Given the description of an element on the screen output the (x, y) to click on. 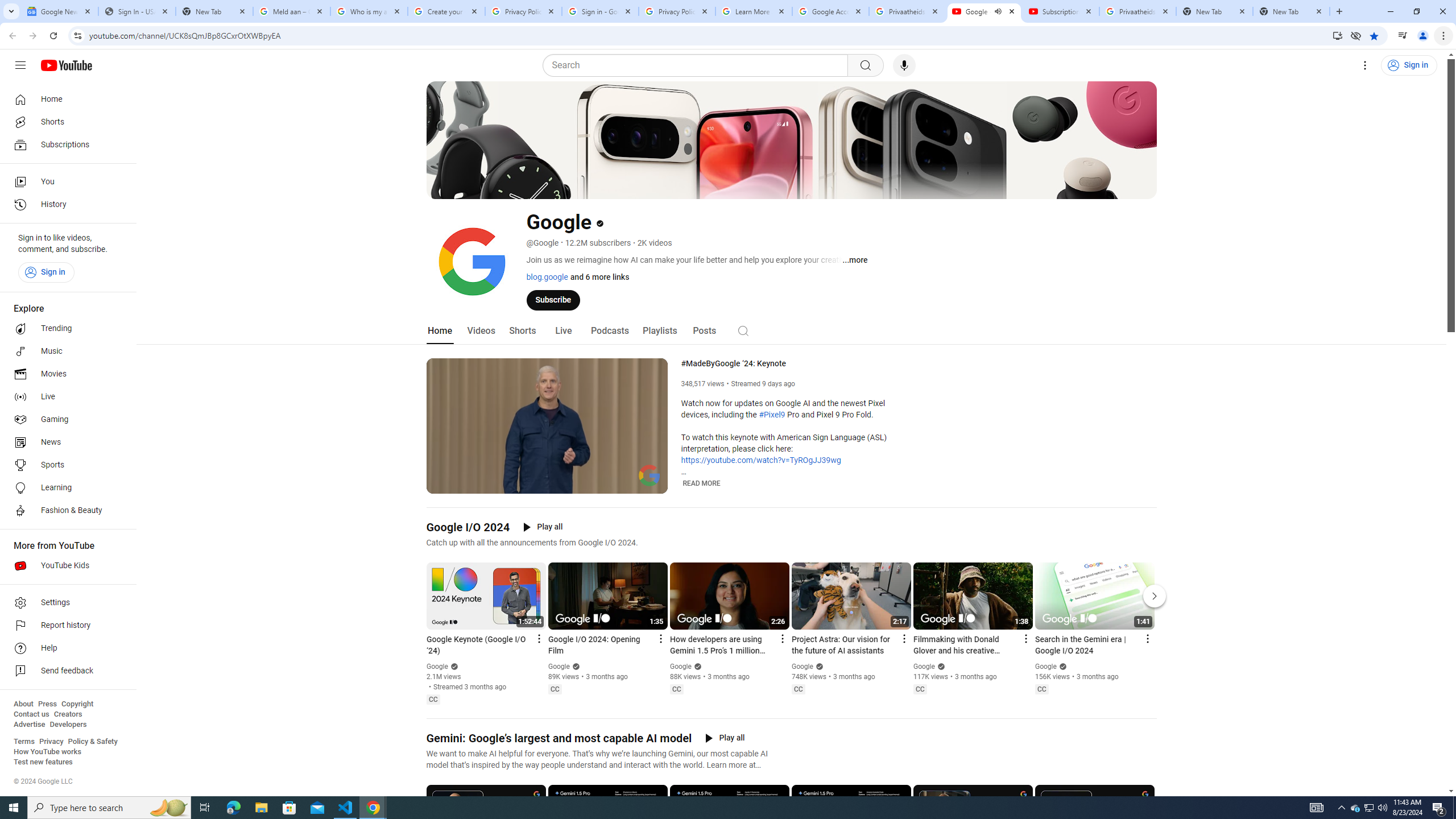
Learning (64, 487)
Google Account (830, 11)
Live (64, 396)
https://youtube.com/watch?v=TyROgJJ39wg (761, 460)
Send feedback (64, 671)
Who is my administrator? - Google Account Help (368, 11)
History (64, 204)
Developers (68, 724)
Create your Google Account (446, 11)
Contact us (31, 714)
MadeByGoogle '24: Intro (560, 483)
